Given the description of an element on the screen output the (x, y) to click on. 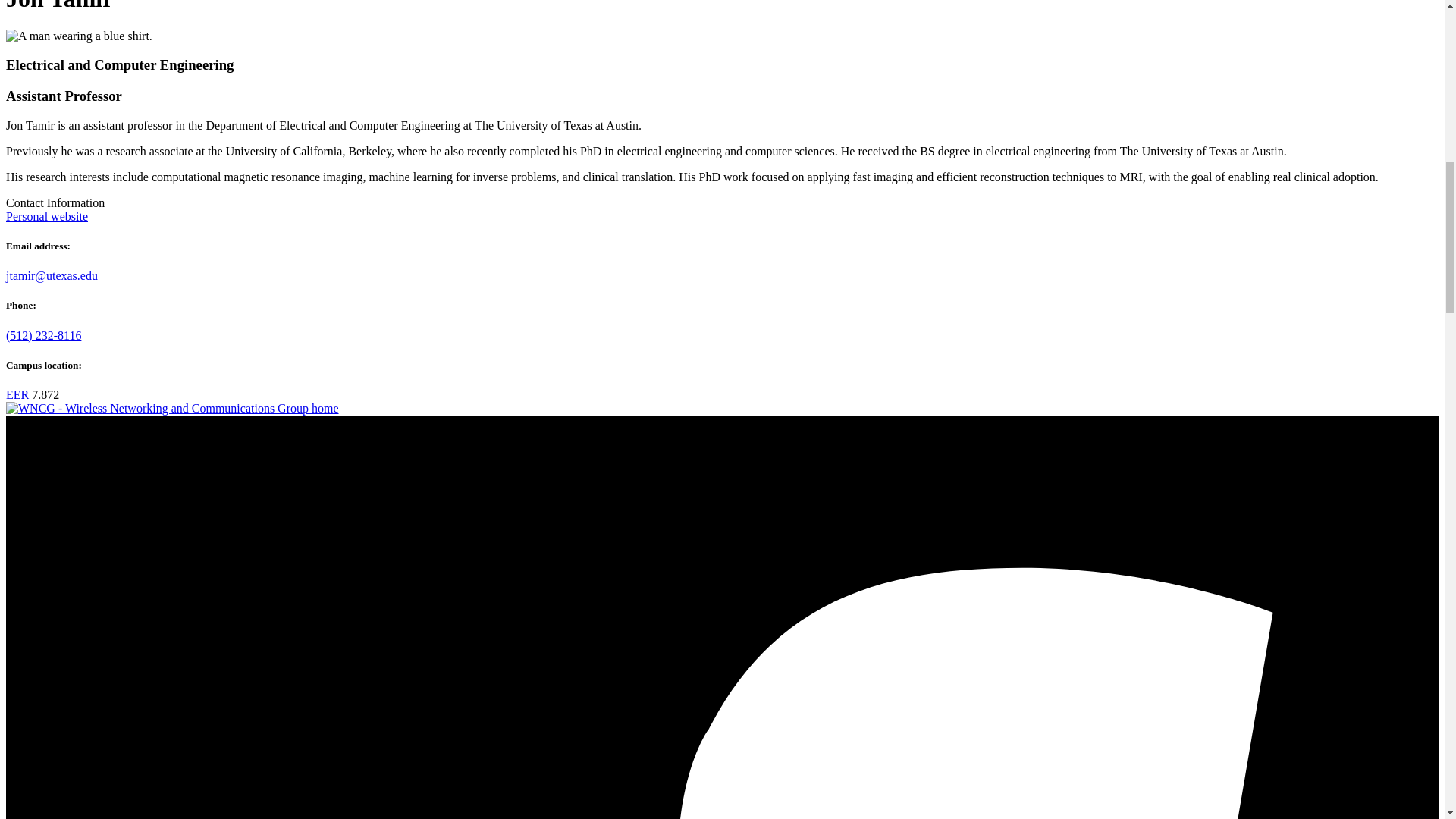
EER (17, 394)
Home (172, 408)
Personal website (46, 215)
